Given the description of an element on the screen output the (x, y) to click on. 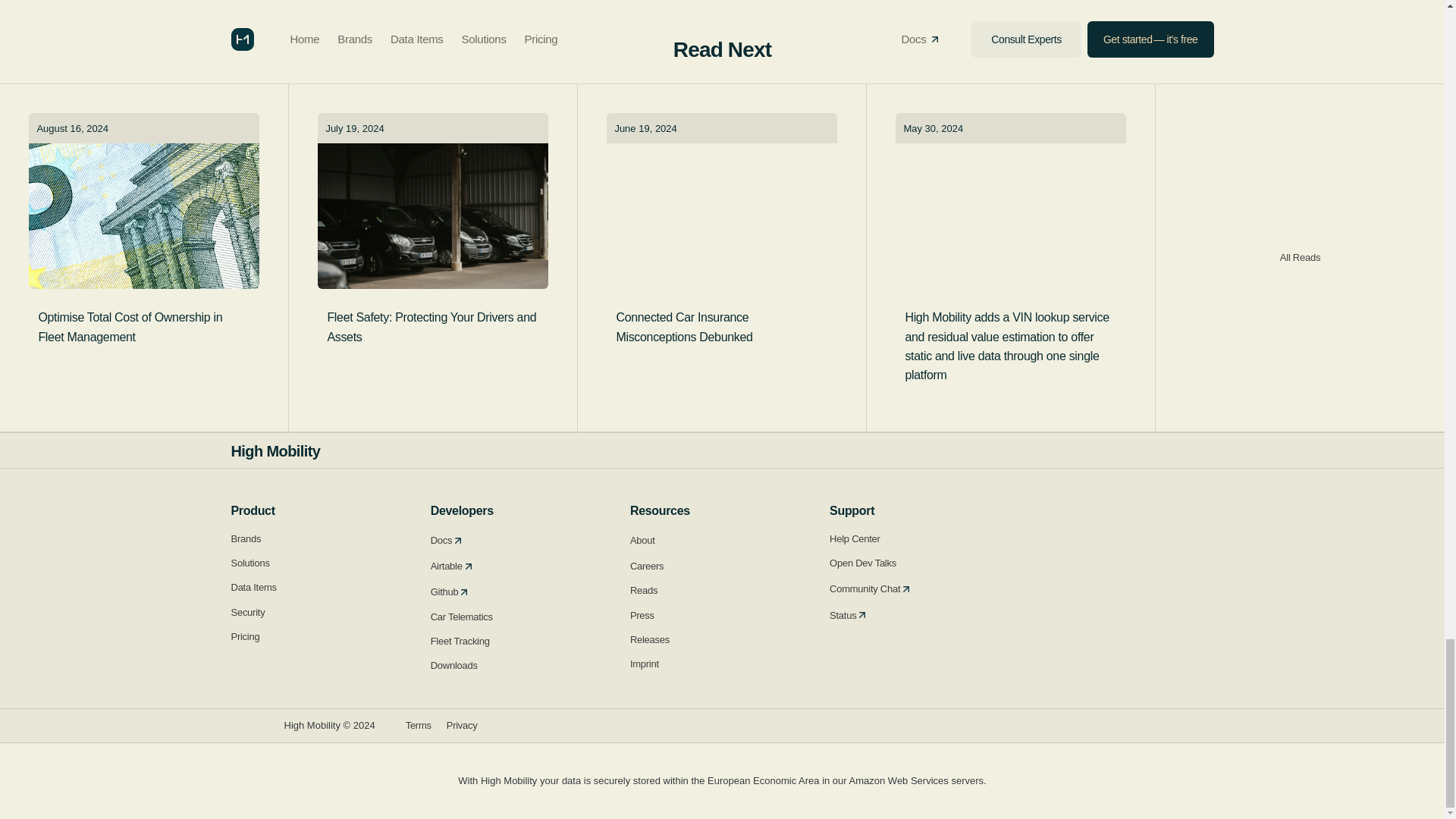
Connected Car Insurance Misconceptions Debunked (720, 326)
Fleet Safety: Protecting Your Drivers and Assets (431, 326)
Solutions (310, 566)
Optimise Total Cost of Ownership in Fleet Management (142, 326)
Brands (310, 541)
High Mobility (275, 450)
